Given the description of an element on the screen output the (x, y) to click on. 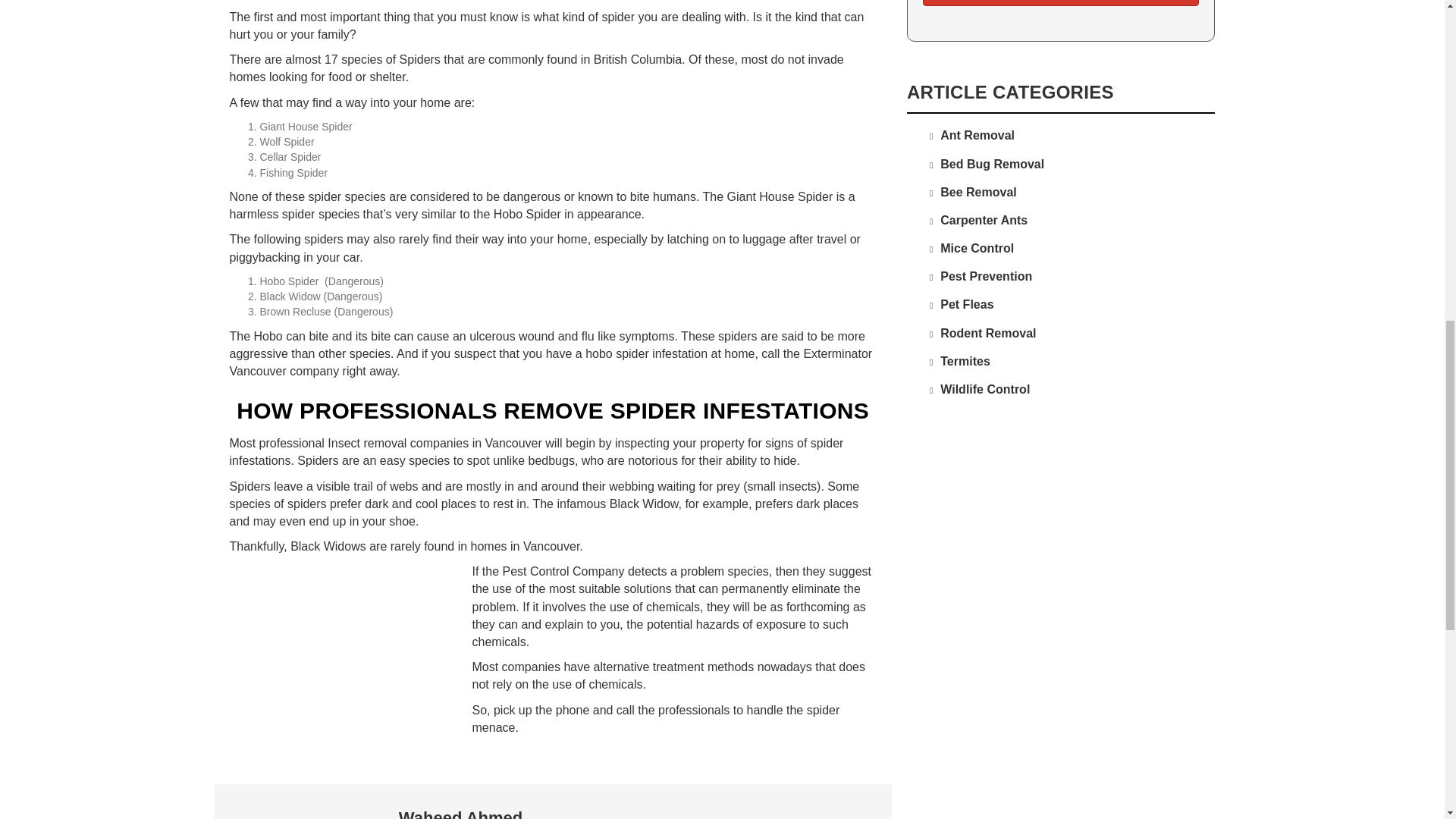
SEND MESSAGE (1061, 2)
